Given the description of an element on the screen output the (x, y) to click on. 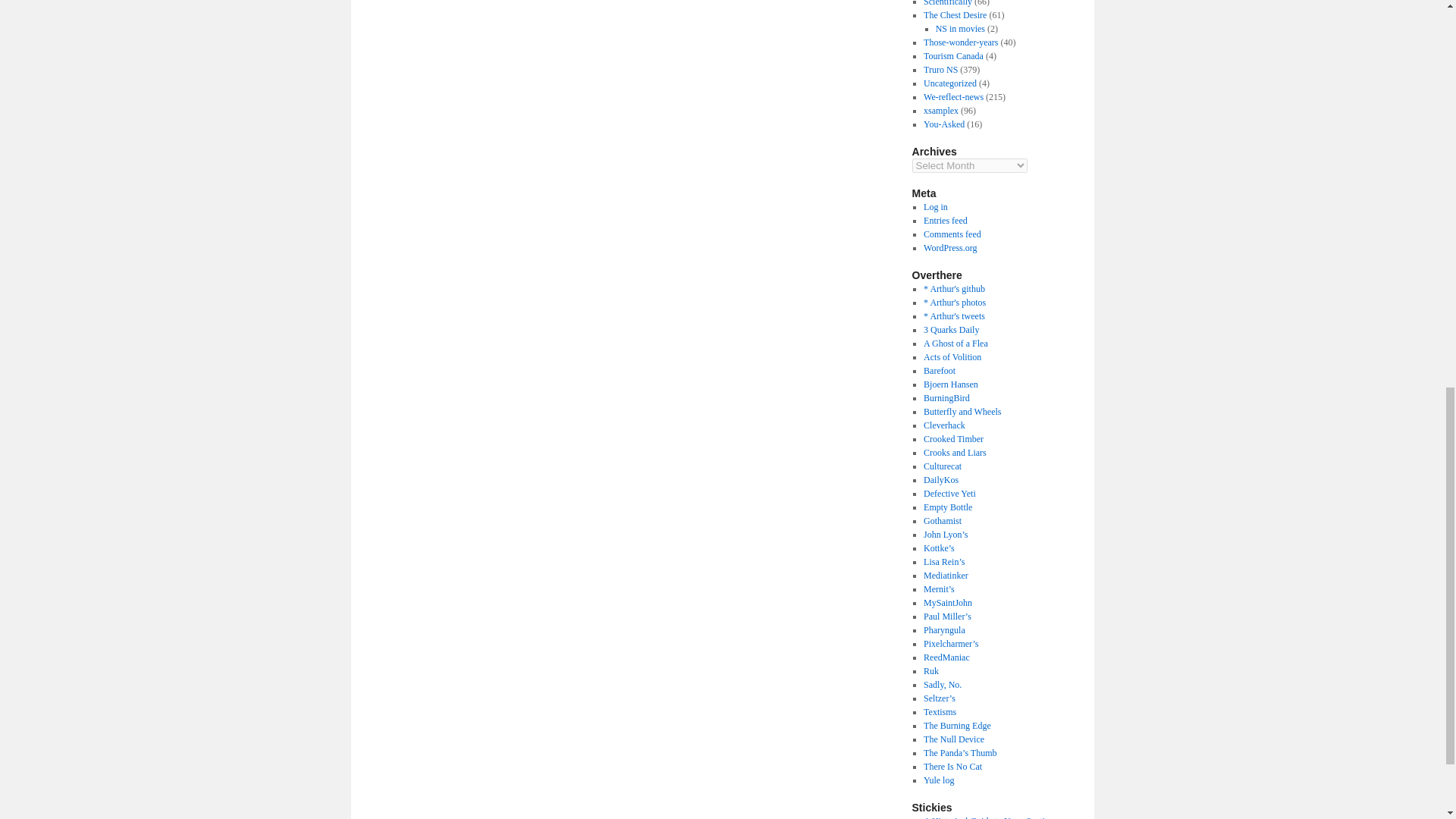
Github pages (954, 288)
Science, Art and others (950, 329)
No Really. (954, 316)
Because at least I appreciate different opinions! (955, 343)
My photos, which you might enjoy or not. (954, 302)
